Given the description of an element on the screen output the (x, y) to click on. 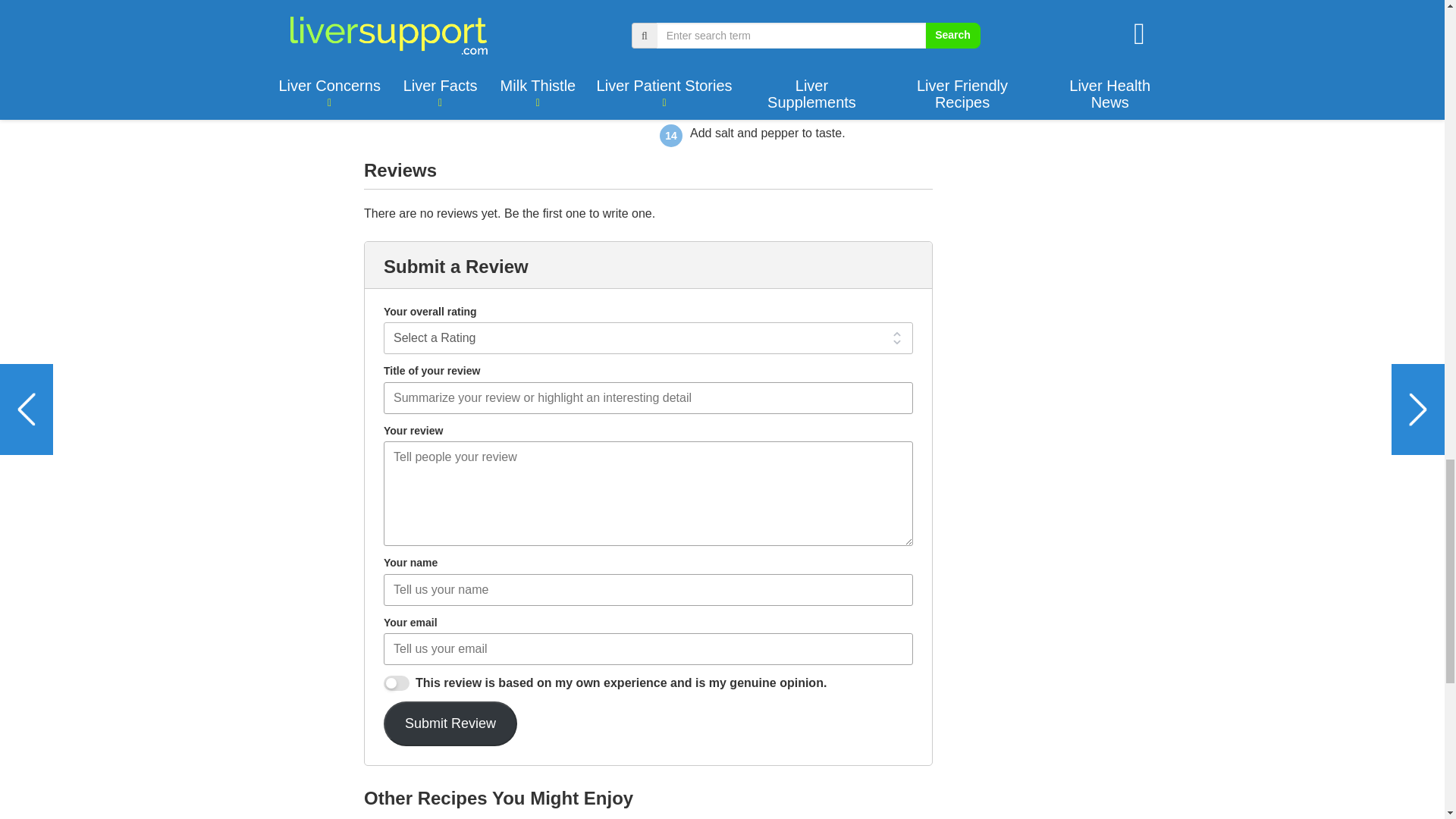
1 (396, 683)
